Given the description of an element on the screen output the (x, y) to click on. 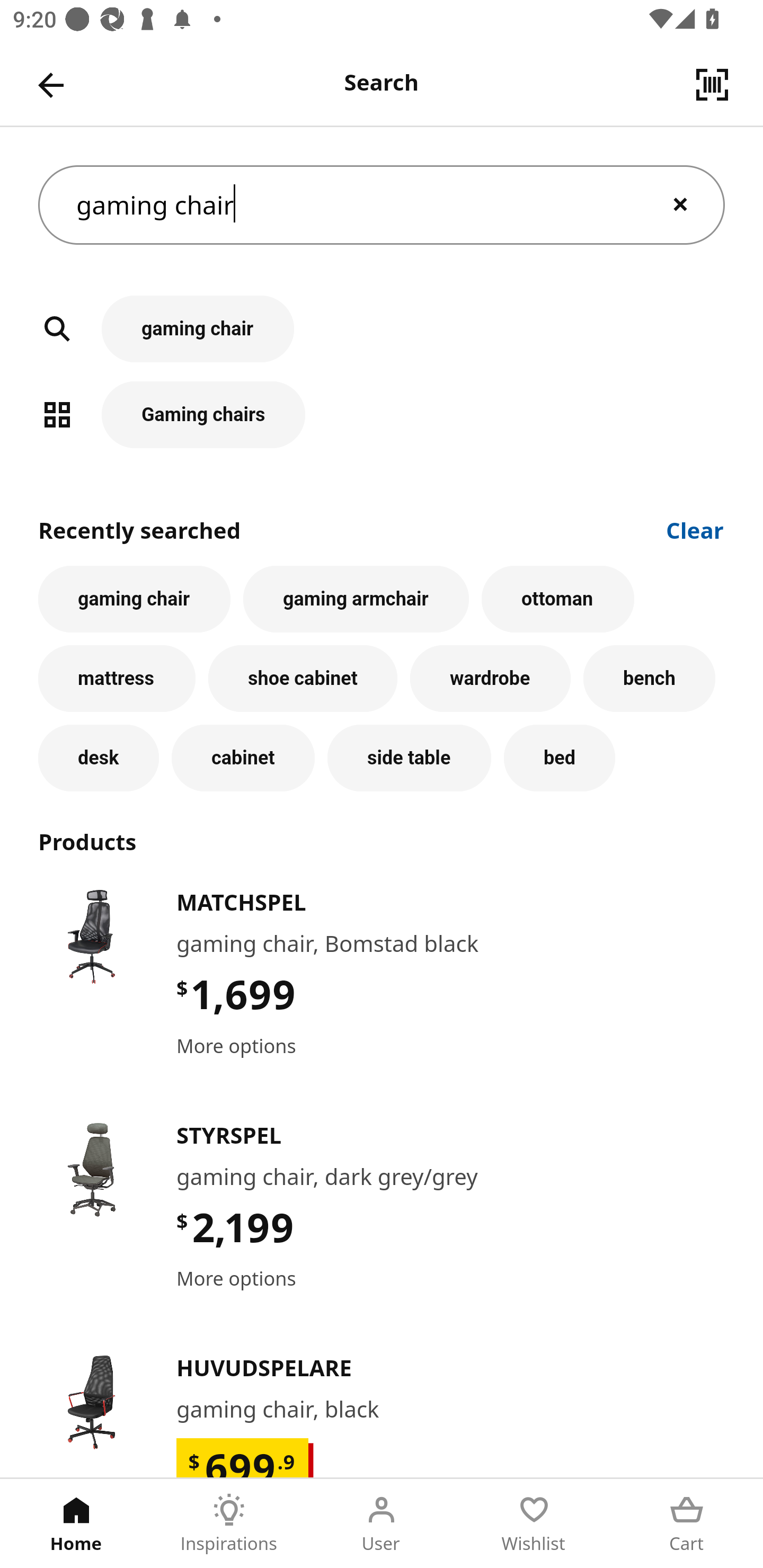
gaming chair (381, 204)
gaming chair (381, 338)
Gaming chairs (381, 414)
Clear (695, 529)
gaming chair (134, 598)
gaming armchair (356, 598)
ottoman (557, 598)
mattress (116, 677)
shoe cabinet (302, 677)
wardrobe (490, 677)
bench (649, 677)
desk (98, 757)
cabinet (242, 757)
side table (409, 757)
bed (558, 757)
Home
Tab 1 of 5 (76, 1522)
Inspirations
Tab 2 of 5 (228, 1522)
User
Tab 3 of 5 (381, 1522)
Wishlist
Tab 4 of 5 (533, 1522)
Cart
Tab 5 of 5 (686, 1522)
